Given the description of an element on the screen output the (x, y) to click on. 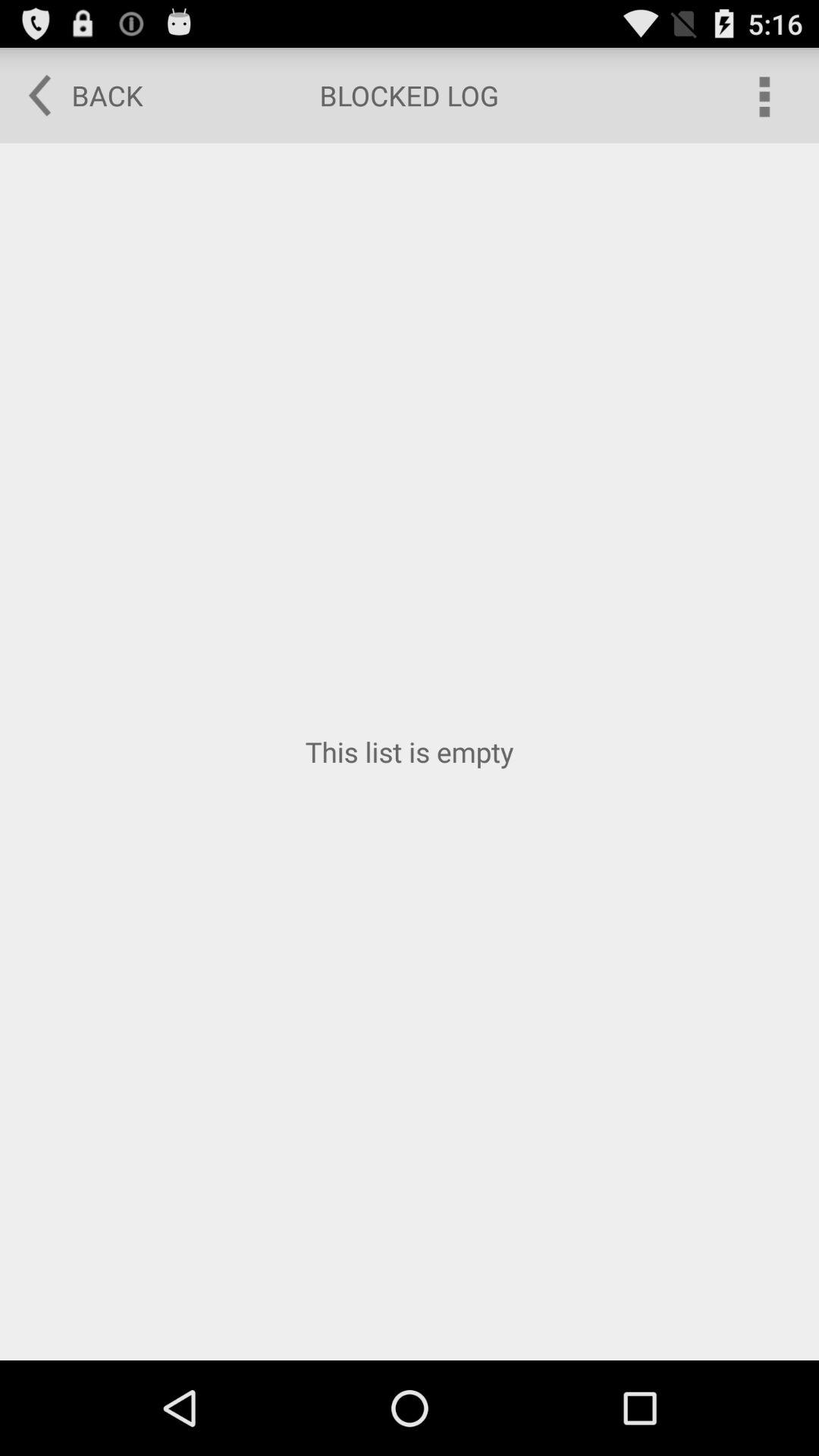
choose the icon at the top right corner (763, 95)
